Given the description of an element on the screen output the (x, y) to click on. 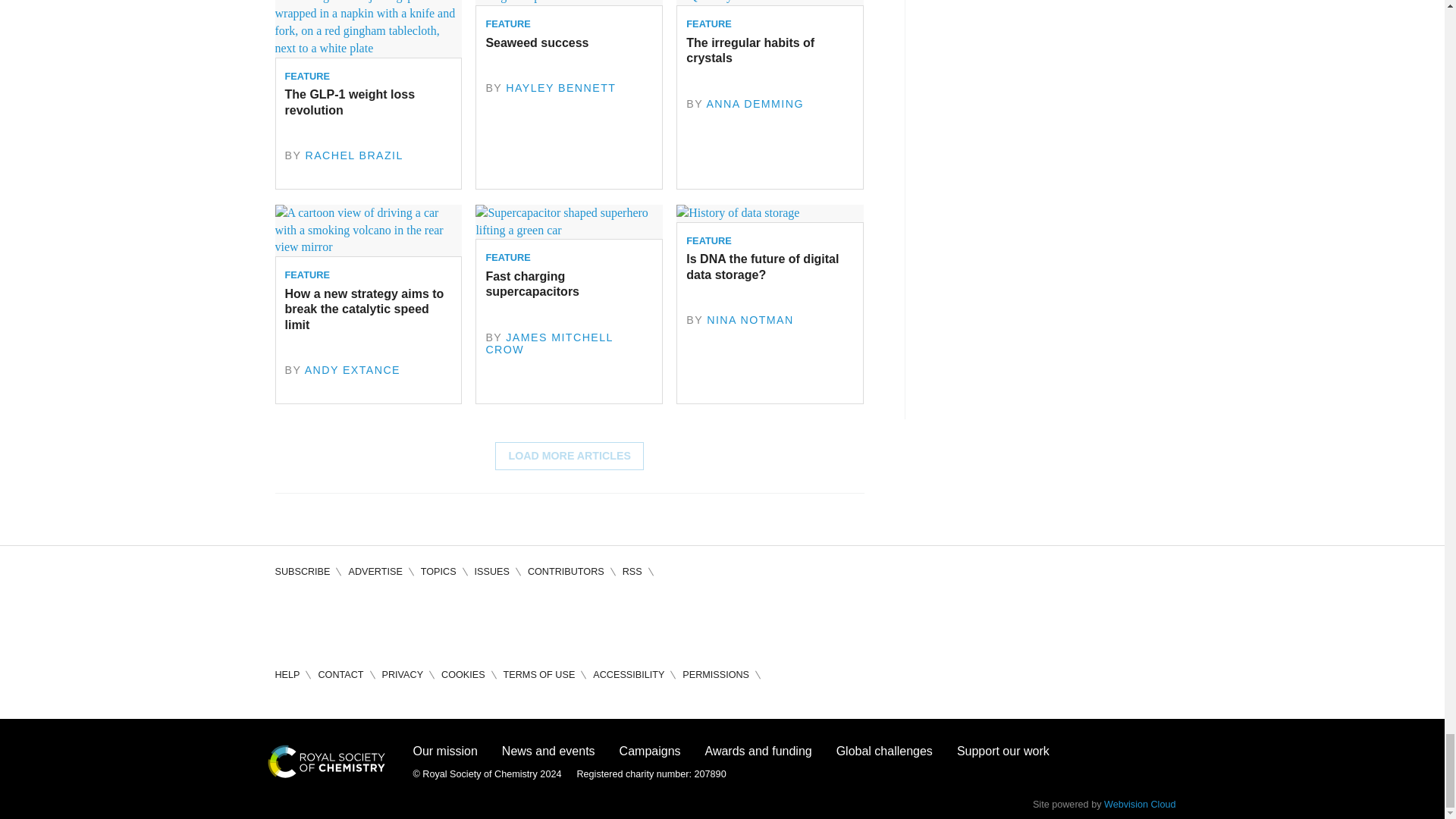
Follow on Twitter (330, 619)
Connect on Linked in (373, 619)
Follow on Facebook (287, 619)
Watch on Vimeo (416, 619)
